Given the description of an element on the screen output the (x, y) to click on. 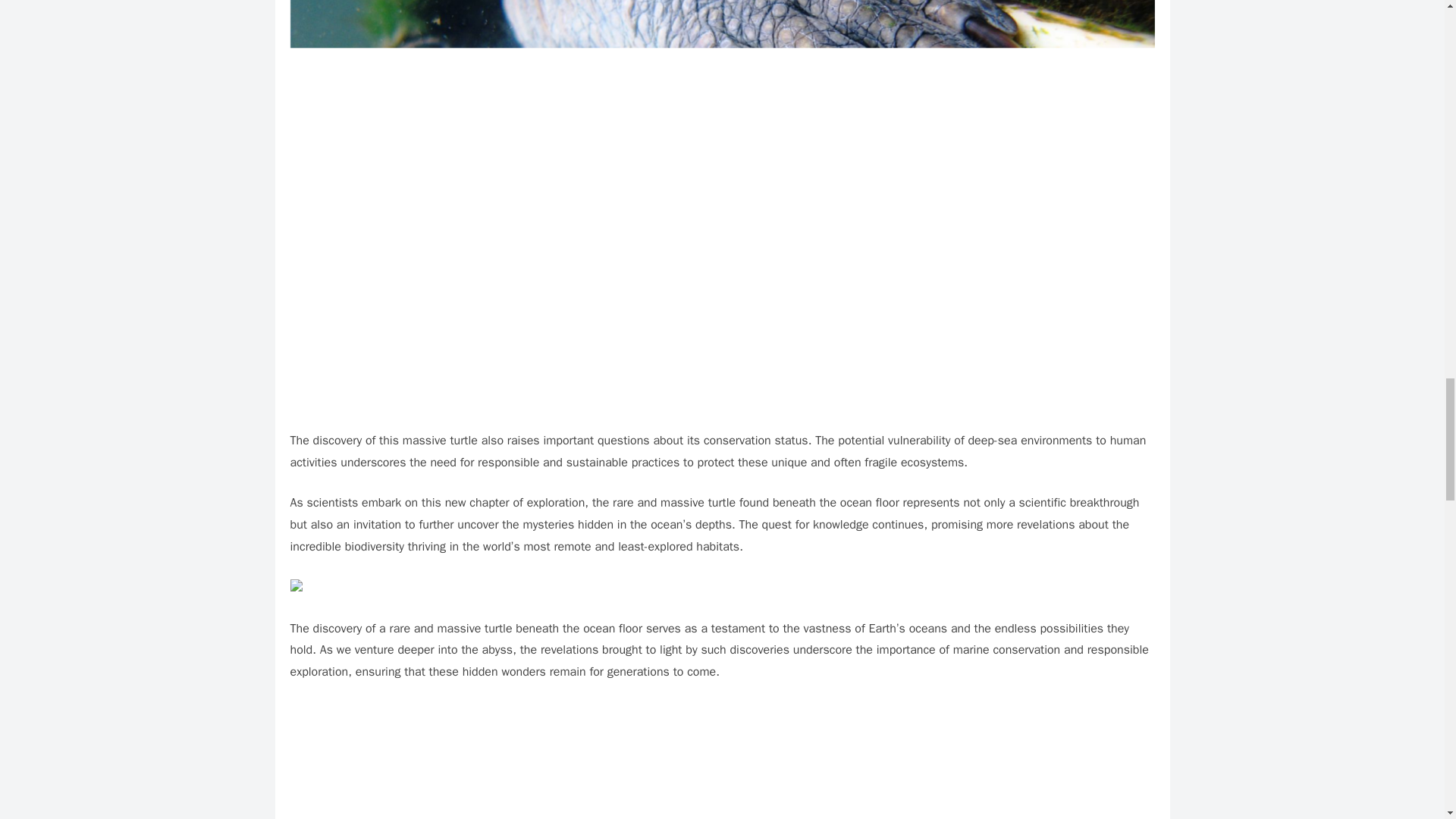
The Loneliest Animal In The World (721, 760)
